Given the description of an element on the screen output the (x, y) to click on. 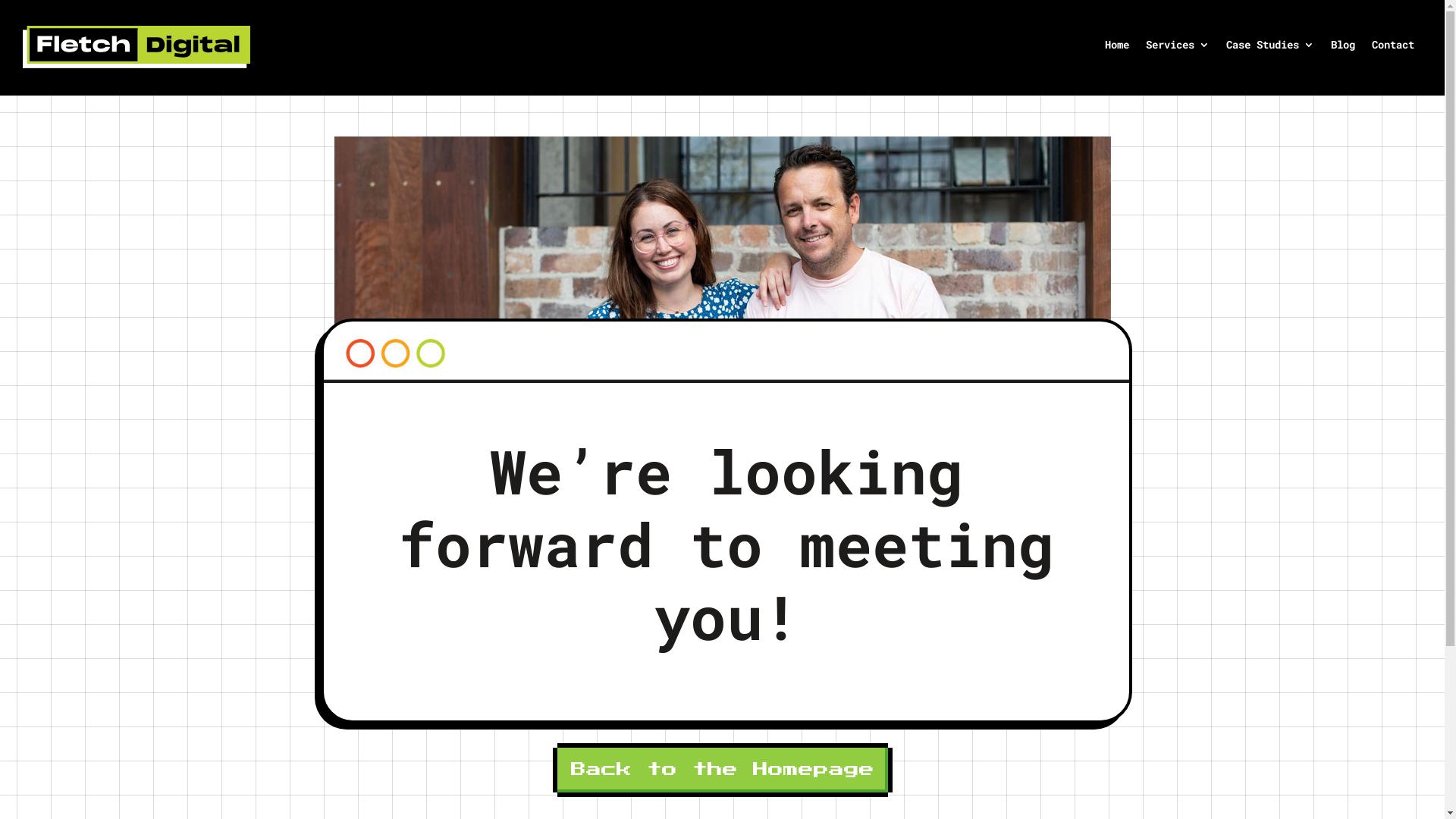
Services Element type: text (1177, 47)
Contact Element type: text (1392, 47)
Back to the Homepage Element type: text (721, 769)
Case Studies Element type: text (1270, 47)
Home Element type: text (1116, 47)
Blog Element type: text (1342, 47)
